Given the description of an element on the screen output the (x, y) to click on. 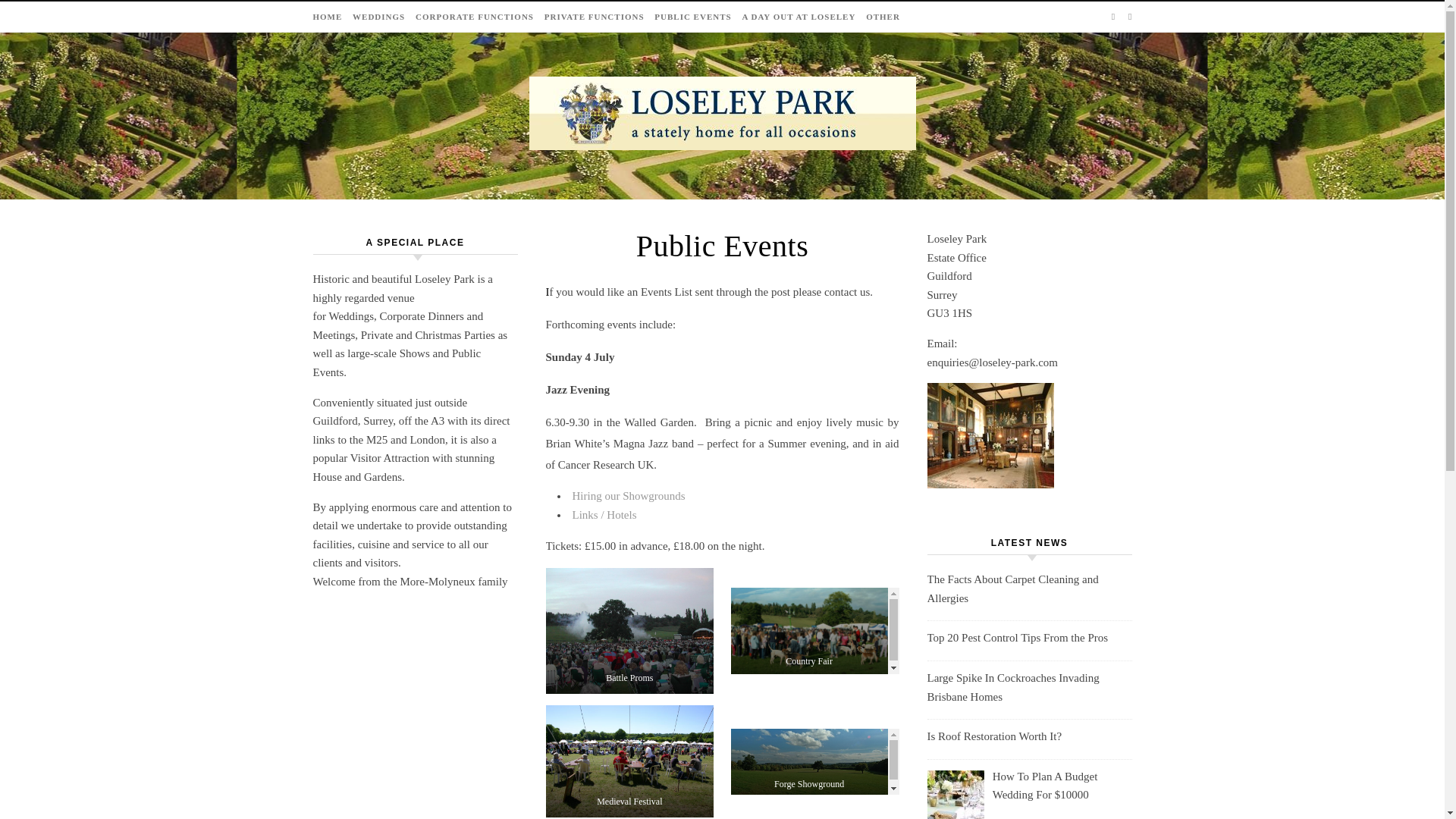
HOME (329, 16)
Welcome from the More-Molyneux family (409, 581)
OTHER (880, 16)
Private and Christmas Parties (428, 335)
Hiring our Showgrounds (628, 495)
Weddings (351, 316)
PUBLIC EVENTS (692, 16)
A DAY OUT AT LOSELEY (798, 16)
Top 20 Pest Control Tips From the Pros (1028, 637)
Is Roof Restoration Worth It? (1028, 736)
